Given the description of an element on the screen output the (x, y) to click on. 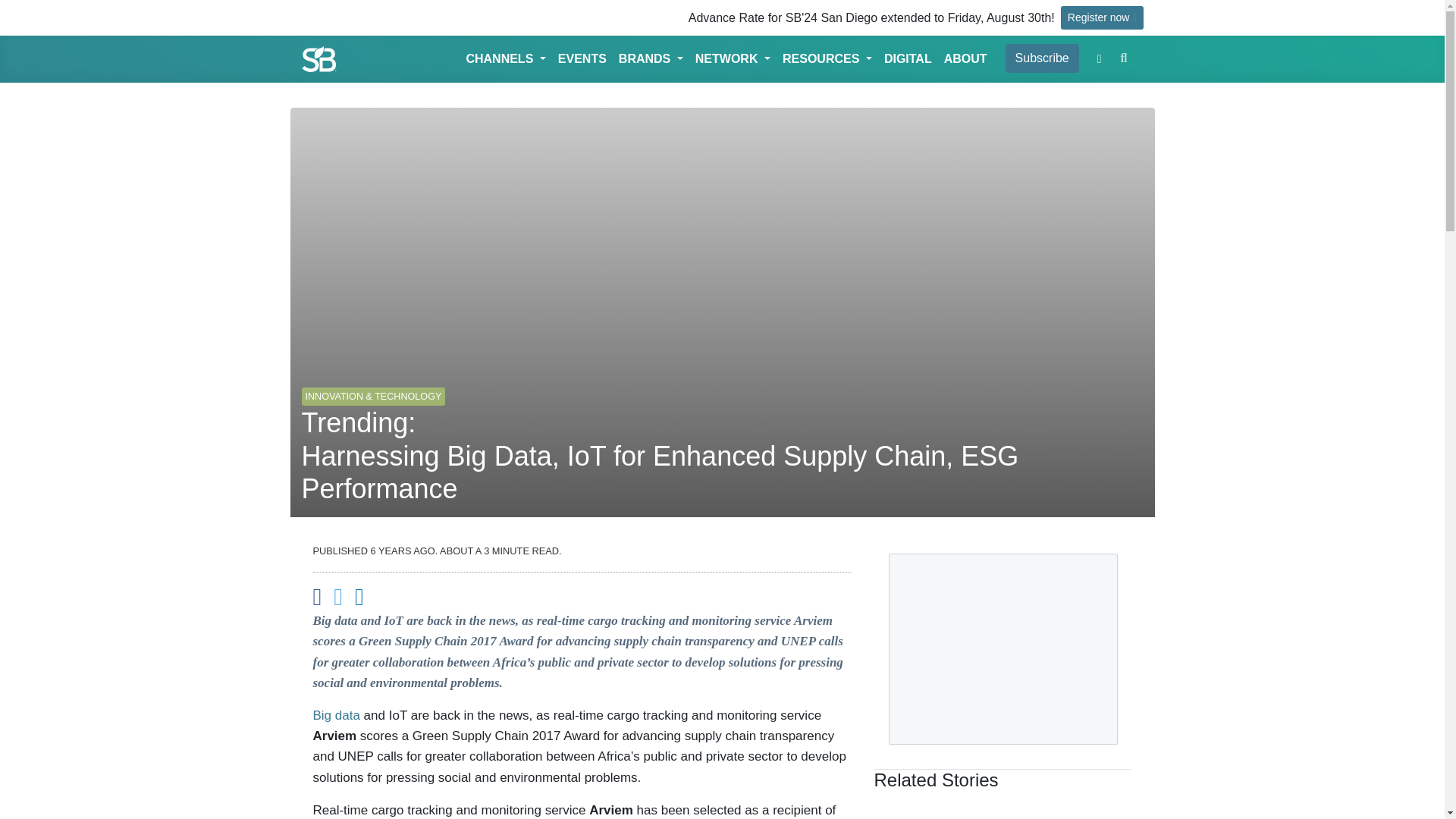
Register now (1101, 17)
EVENTS (581, 59)
Big data (336, 715)
DIGITAL (907, 59)
BRANDS (650, 59)
RESOURCES (826, 59)
Subscribe (1042, 58)
CHANNELS (505, 59)
Search the Site (1123, 58)
ABOUT (964, 59)
